Given the description of an element on the screen output the (x, y) to click on. 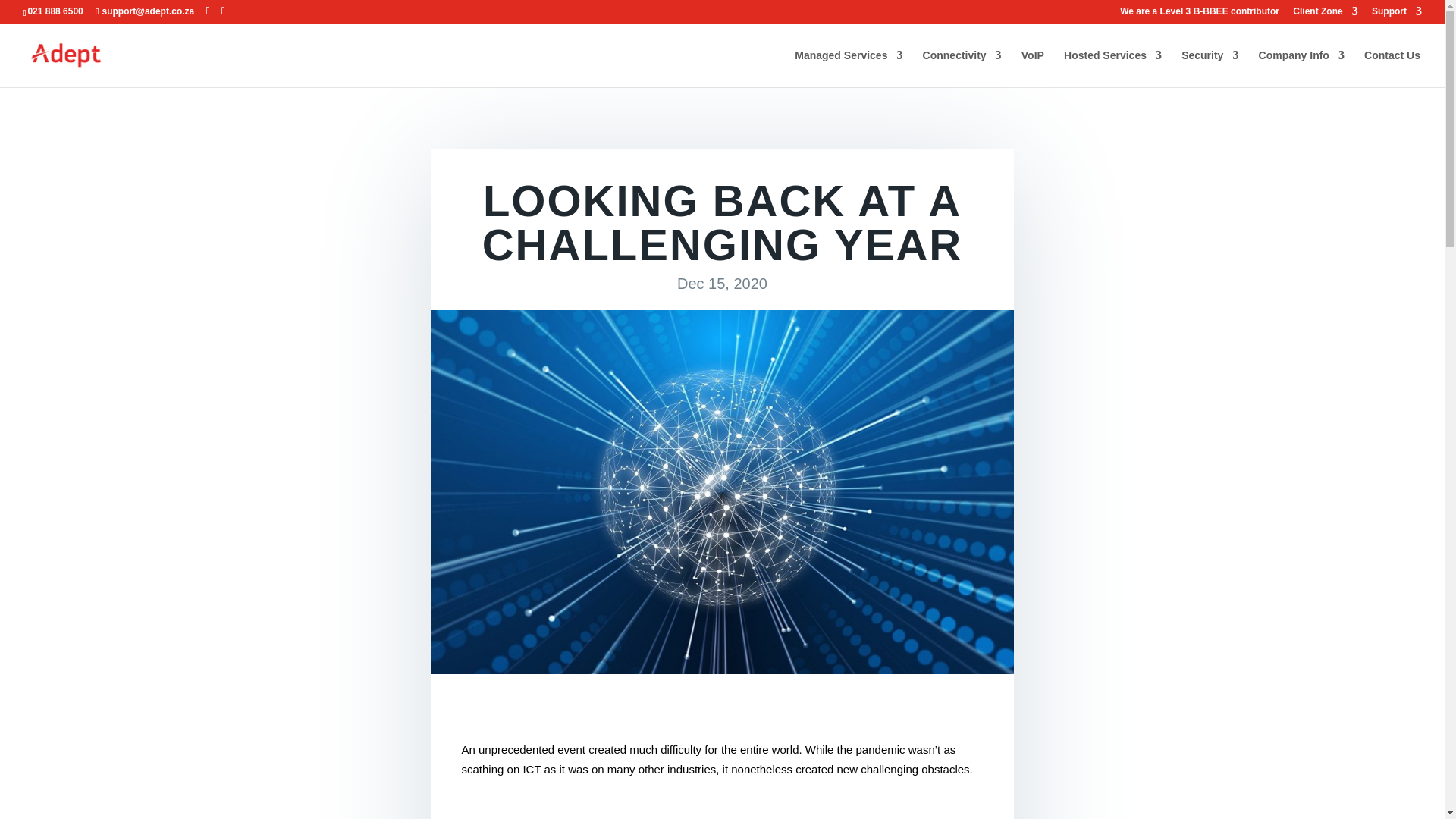
Security (1209, 67)
Connectivity (962, 67)
Support (1396, 14)
Hosted Services (1112, 67)
Managed Services (848, 67)
We are a Level 3 B-BBEE contributor (1199, 14)
Client Zone (1324, 14)
